Given the description of an element on the screen output the (x, y) to click on. 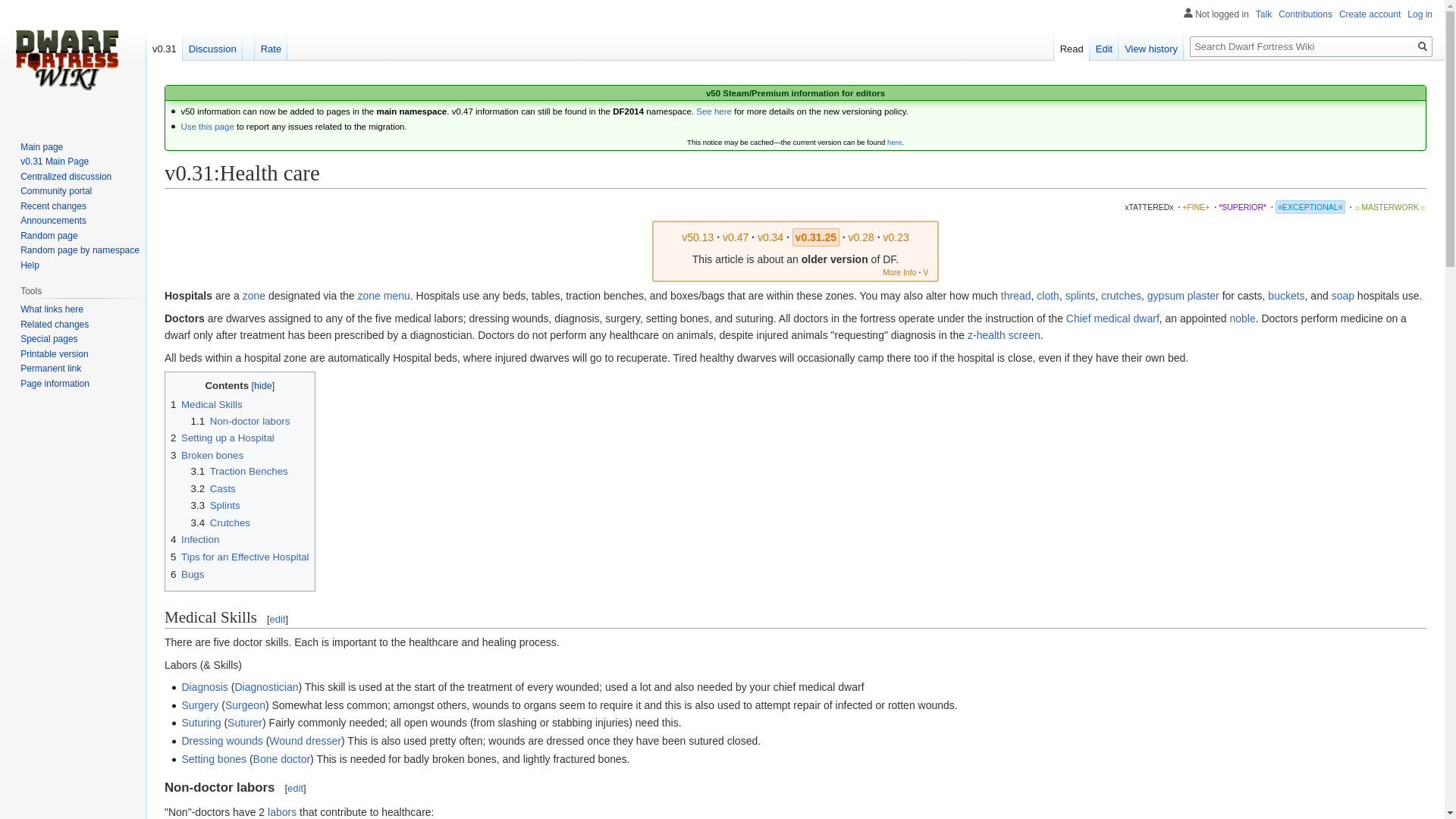
Dwarf Fortress Wiki:Quality (1390, 206)
3.1 Traction Benches (239, 471)
v50.13 (697, 236)
noble (1241, 318)
V (925, 271)
Dwarf Fortress Wiki:Quality (1195, 206)
zone menu (384, 295)
Health care (697, 236)
Template:Av (925, 271)
Go (1422, 46)
Dwarf Fortress Wiki:V (898, 271)
40d:Health care (861, 236)
zone (253, 295)
crutches (1120, 295)
